Given the description of an element on the screen output the (x, y) to click on. 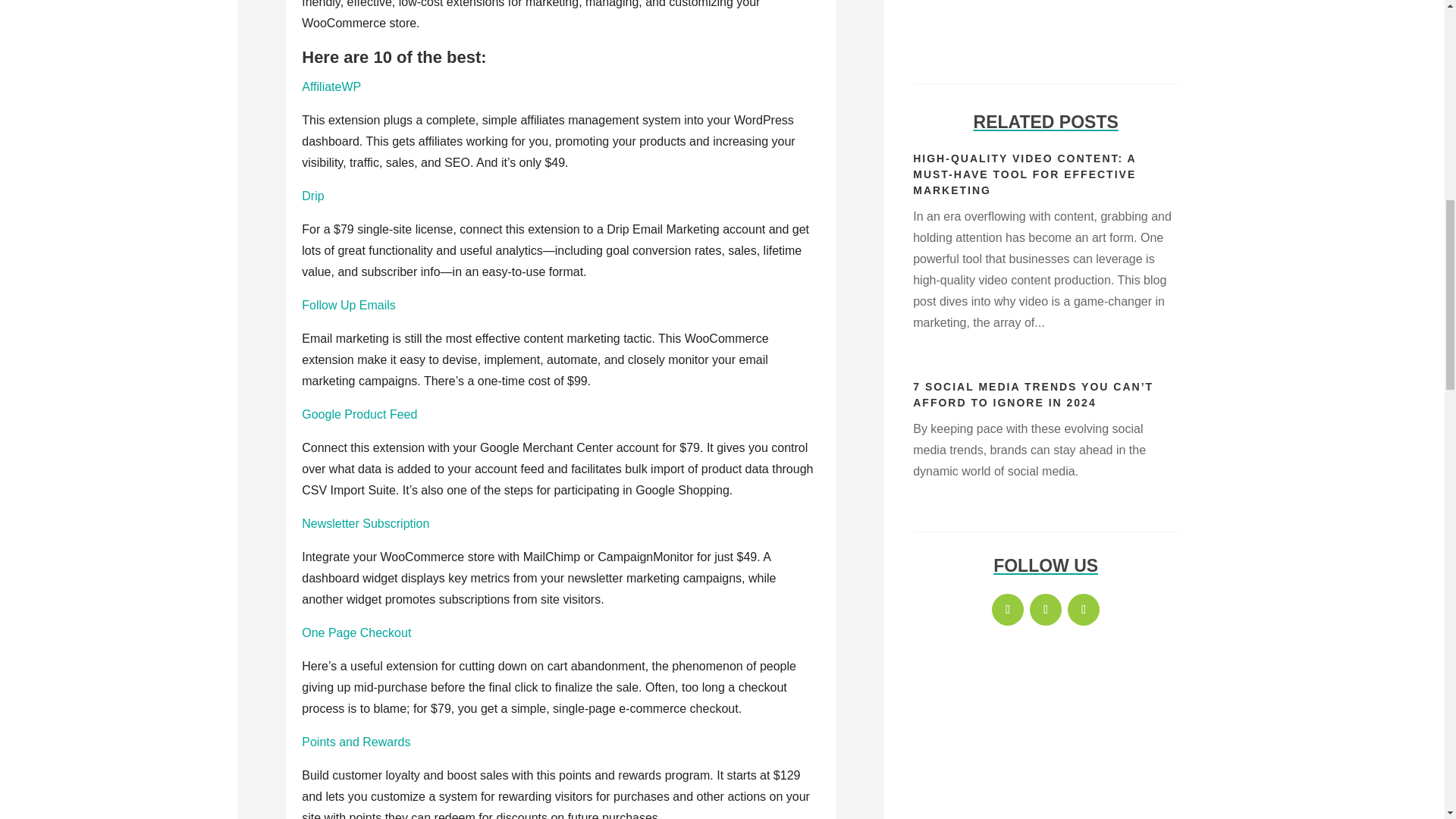
Drip (312, 195)
Follow on Facebook (1007, 609)
Follow on X (1045, 609)
Follow Up Emails (348, 305)
AffiliateWP (331, 86)
Follow on LinkedIn (1083, 609)
